Given the description of an element on the screen output the (x, y) to click on. 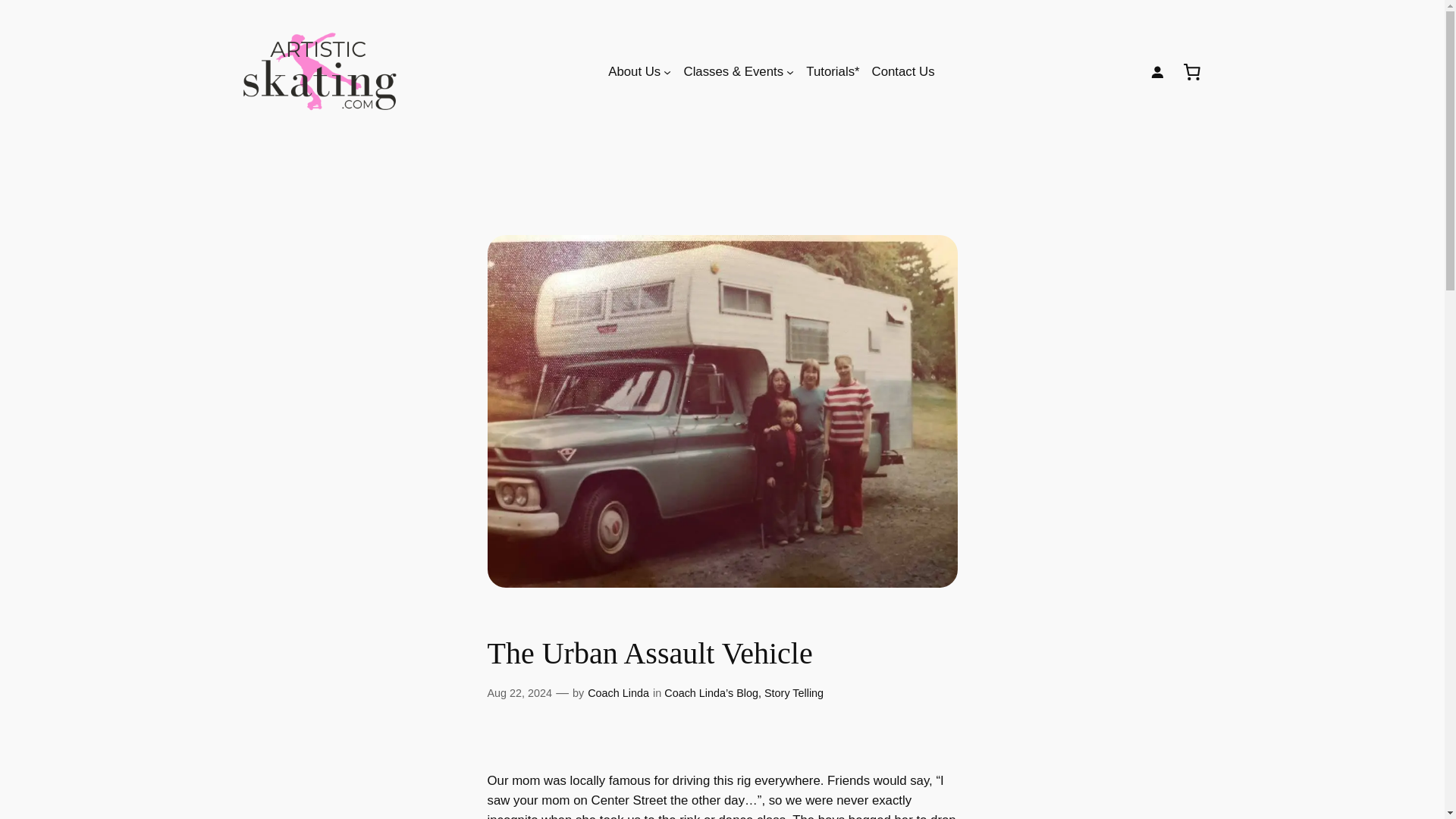
Aug 22, 2024 (518, 693)
Contact Us (903, 71)
Coach Linda (618, 693)
Story Telling (794, 693)
About Us (634, 71)
